Given the description of an element on the screen output the (x, y) to click on. 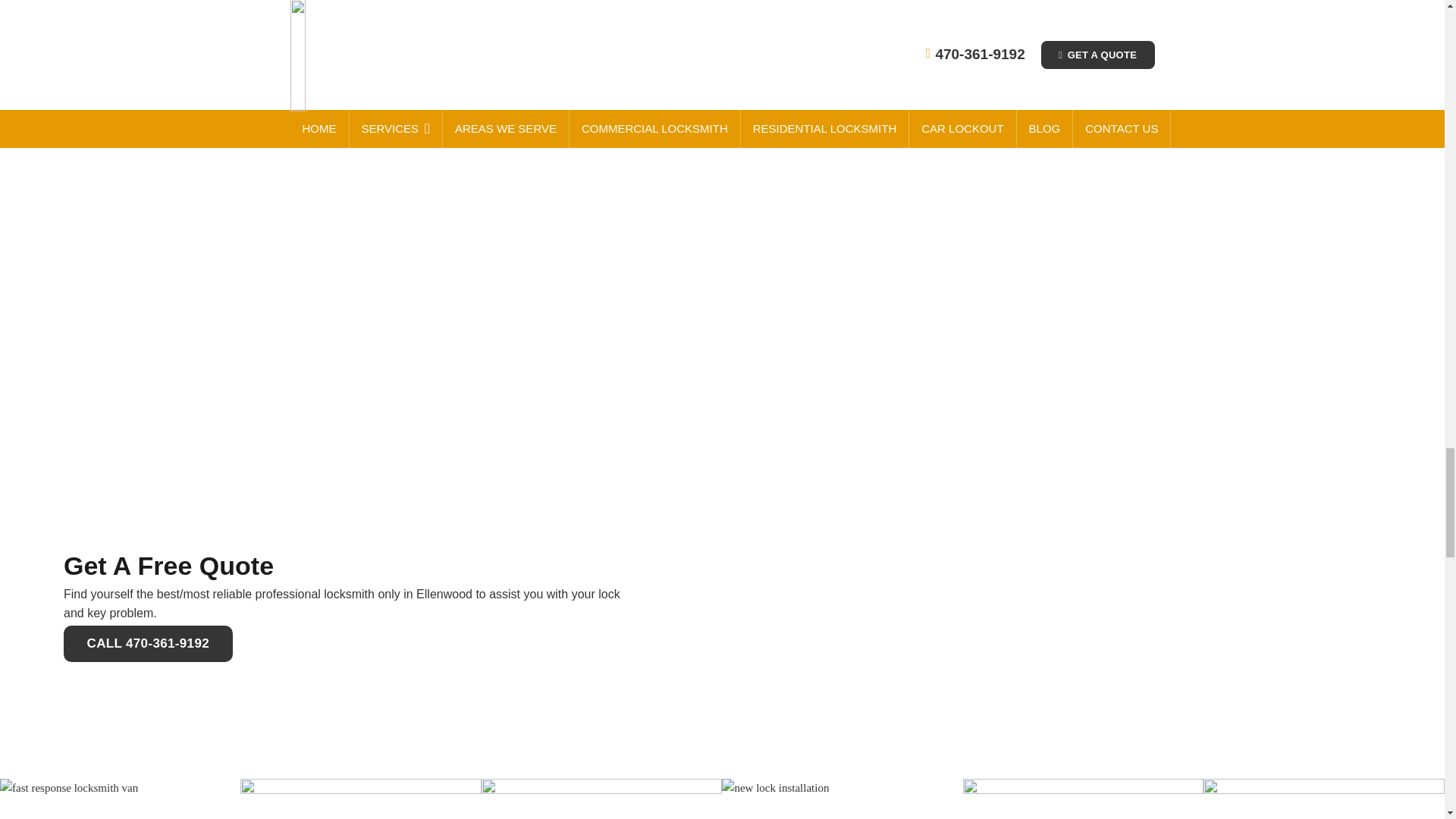
fast response locksmith van 3 (1083, 798)
new lock installation (842, 798)
fast response locksmith van (120, 798)
fast response locksmith van 2 (601, 798)
CALL 470-361-9192 (148, 643)
fast response locksmith van 6 (360, 798)
Woman receiving keys of her new car from dealer (1324, 798)
